Given the description of an element on the screen output the (x, y) to click on. 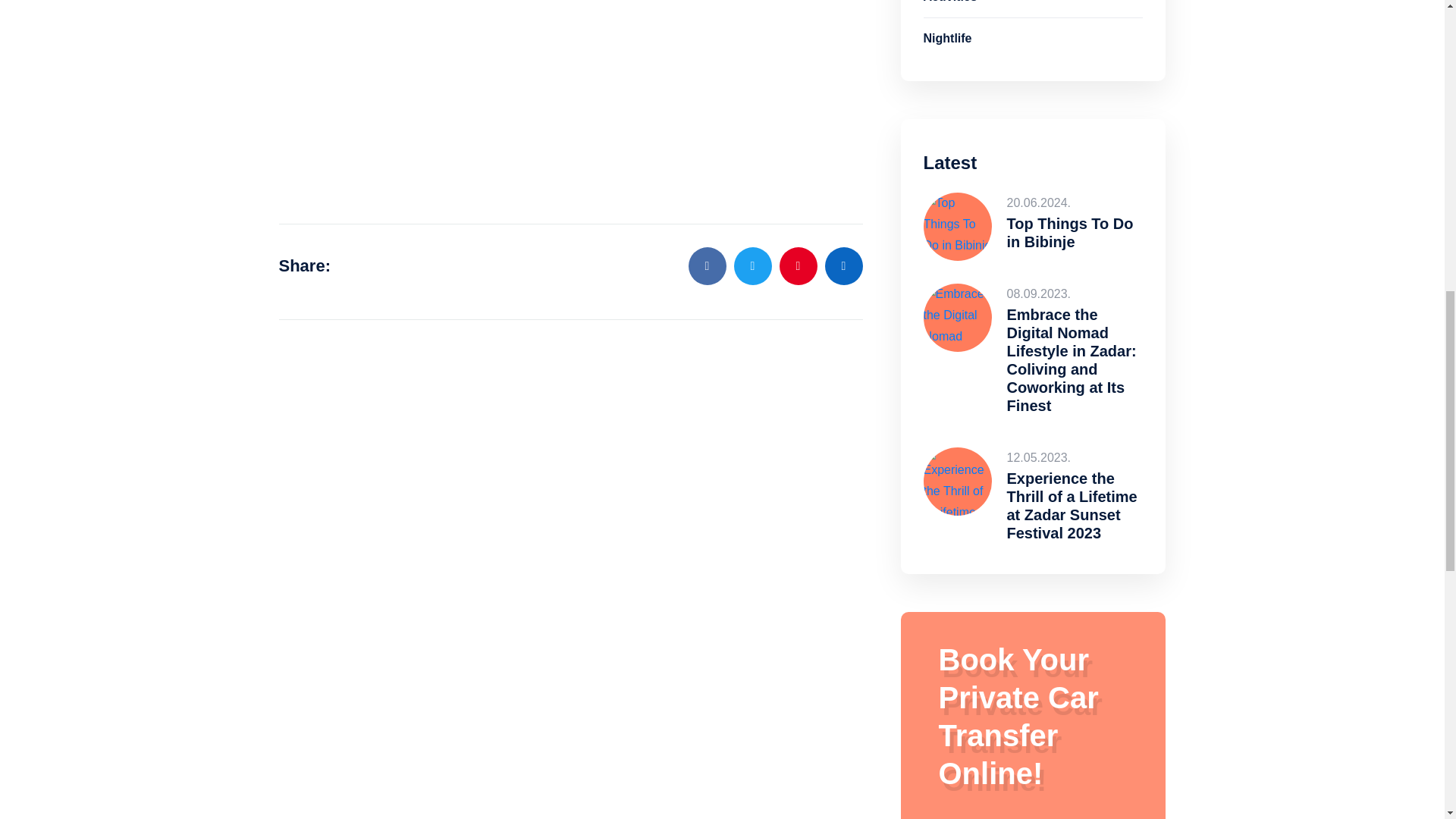
Activities (1032, 8)
